Given the description of an element on the screen output the (x, y) to click on. 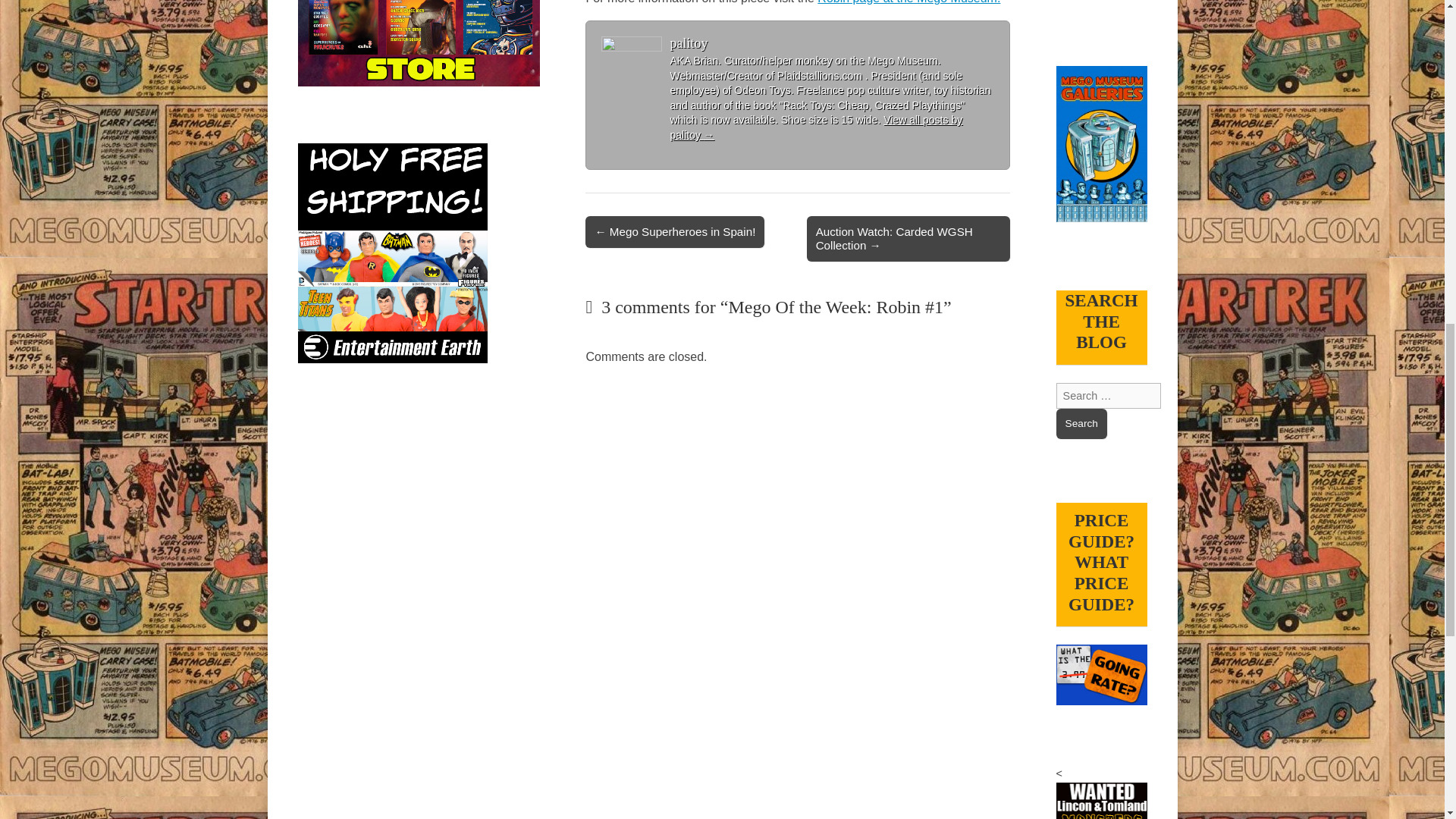
Search (1081, 423)
Robin page at the Mego Museum. (908, 2)
Search (1081, 423)
Search (1081, 423)
